Given the description of an element on the screen output the (x, y) to click on. 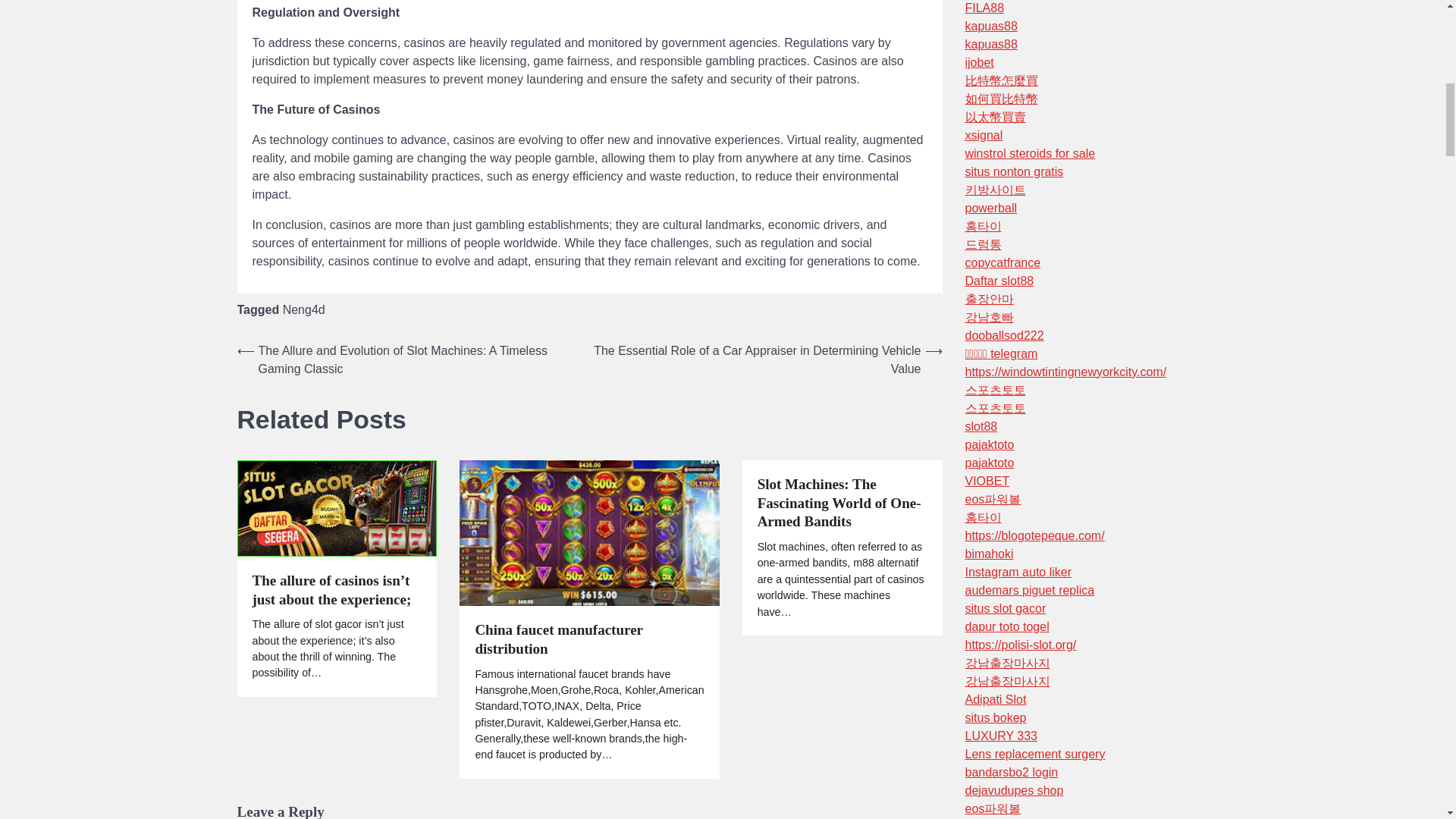
China faucet manufacturer distribution (588, 639)
Slot Machines: The Fascinating World of One-Armed Bandits (842, 503)
Neng4d (303, 309)
